Given the description of an element on the screen output the (x, y) to click on. 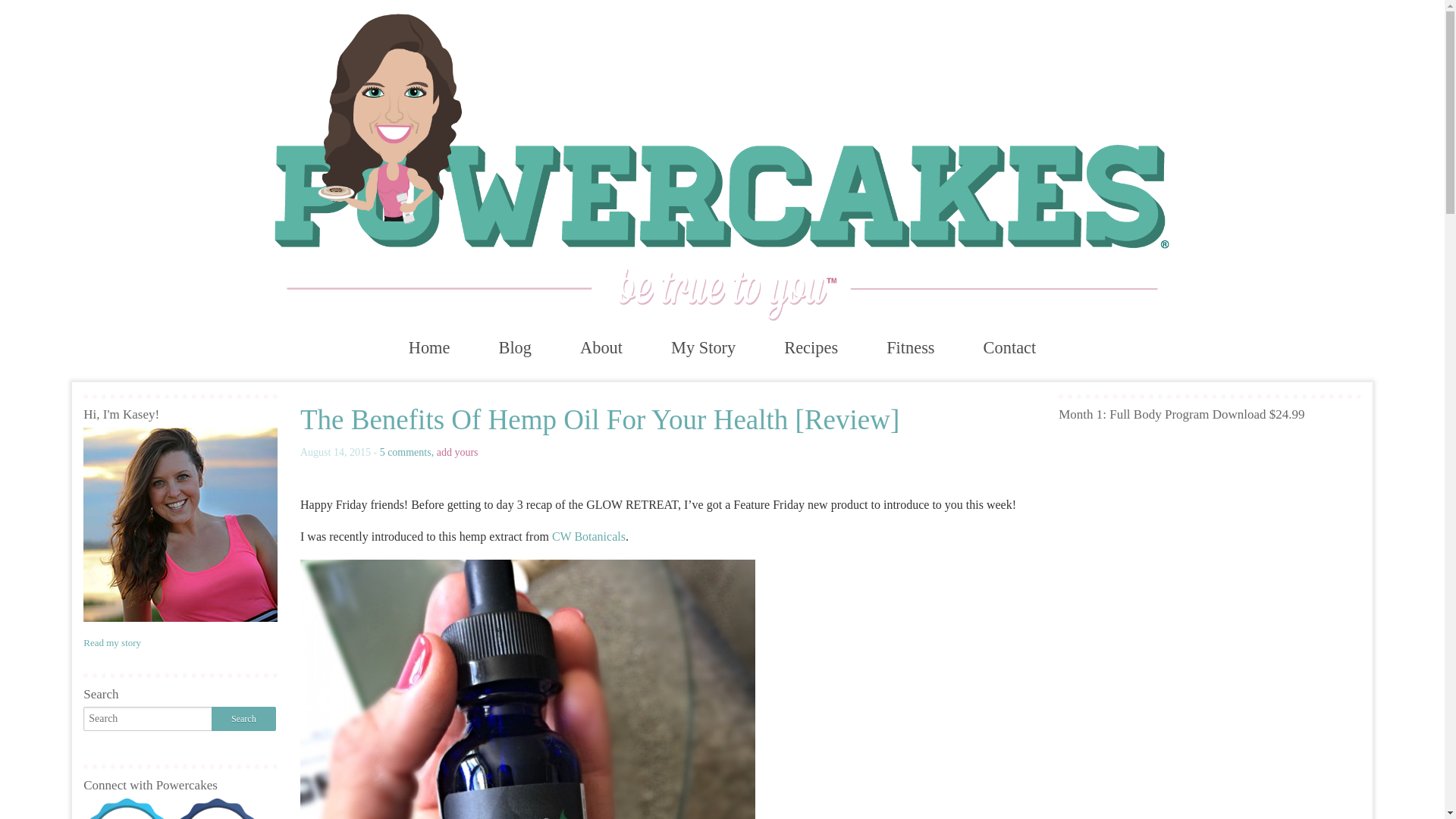
Search (243, 718)
Blog (515, 347)
My Story (702, 347)
Recipes (810, 347)
CW Botanicals (588, 535)
Contact (1009, 347)
Fitness (909, 347)
add yours (457, 451)
About (601, 347)
Home (429, 347)
